Given the description of an element on the screen output the (x, y) to click on. 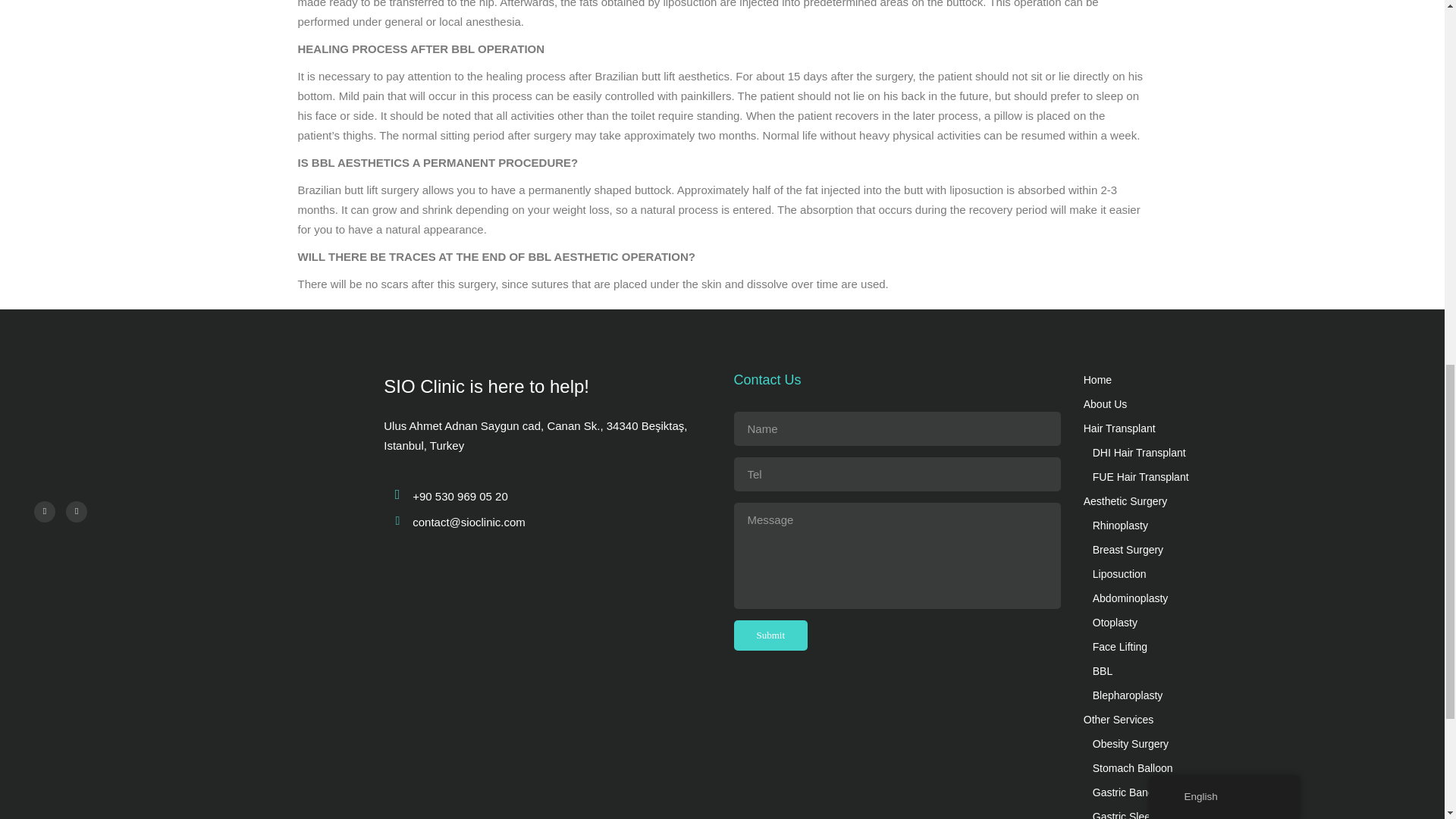
Submit (770, 634)
